Given the description of an element on the screen output the (x, y) to click on. 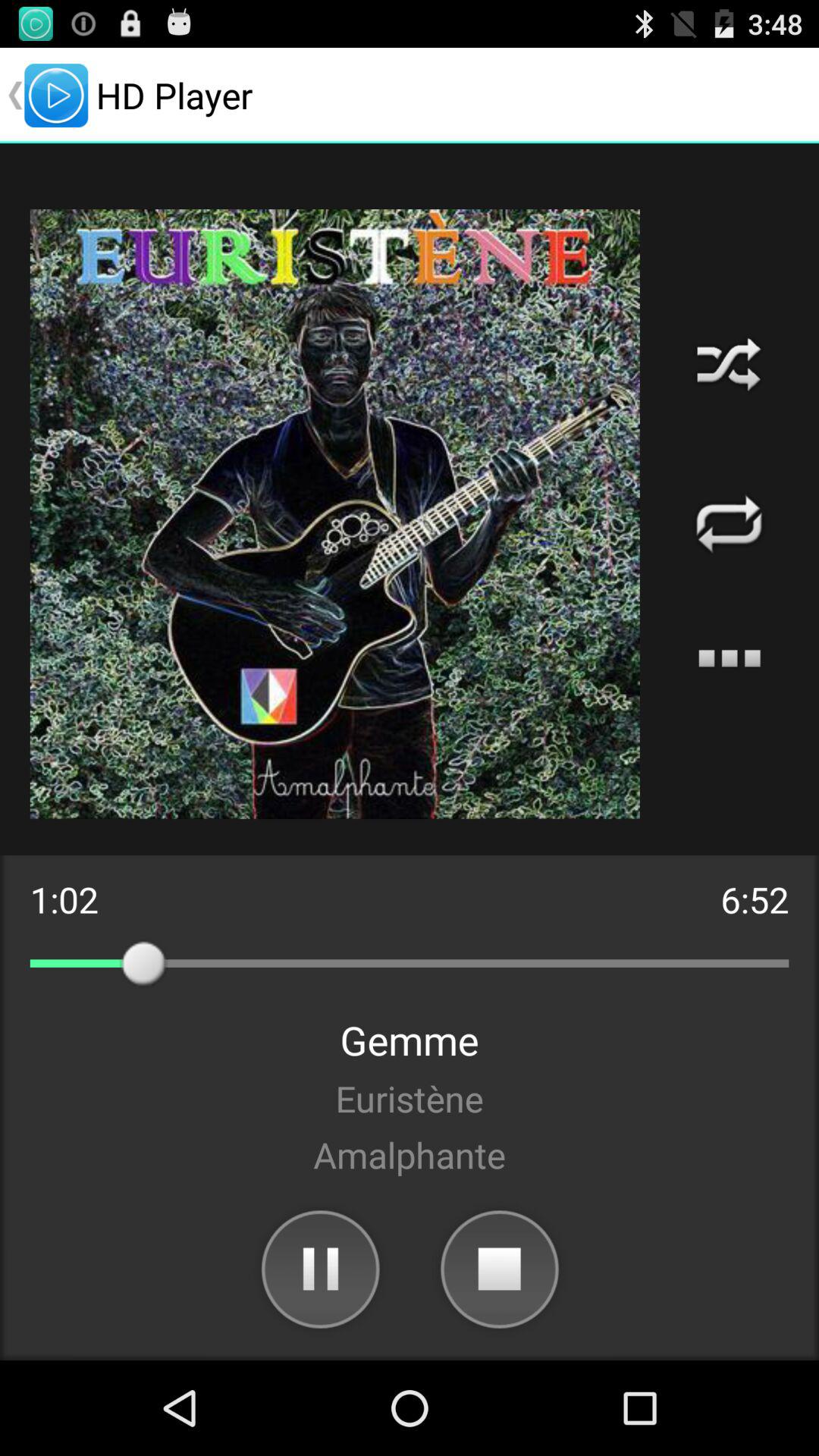
launch icon to the left of 6:52 icon (64, 899)
